Given the description of an element on the screen output the (x, y) to click on. 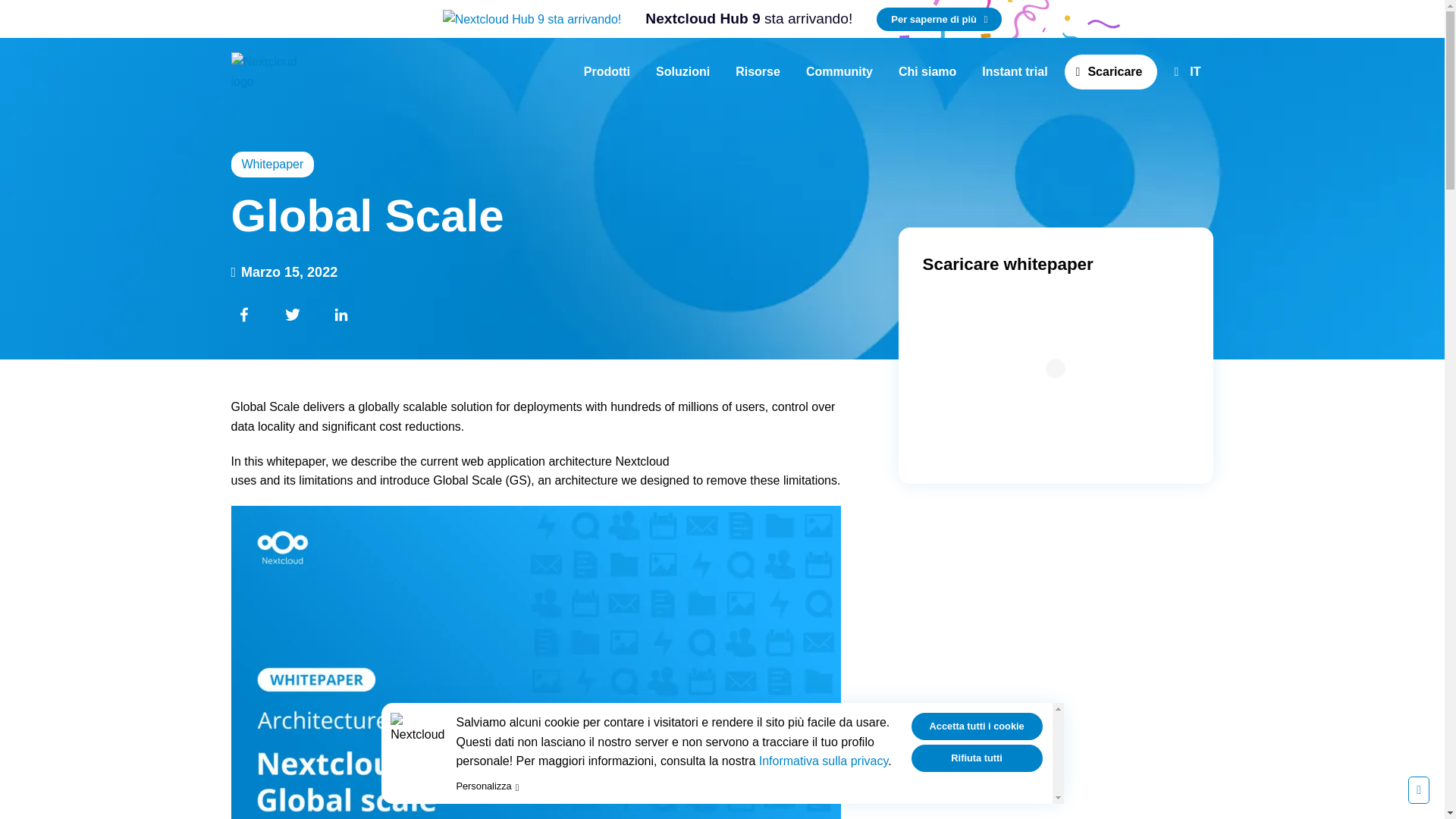
Nextcloud Hub 9 sta arrivando! (748, 19)
Community (748, 19)
Prodotti (839, 71)
Risorse (938, 19)
Nextcloud (607, 71)
Soluzioni (757, 71)
